Given the description of an element on the screen output the (x, y) to click on. 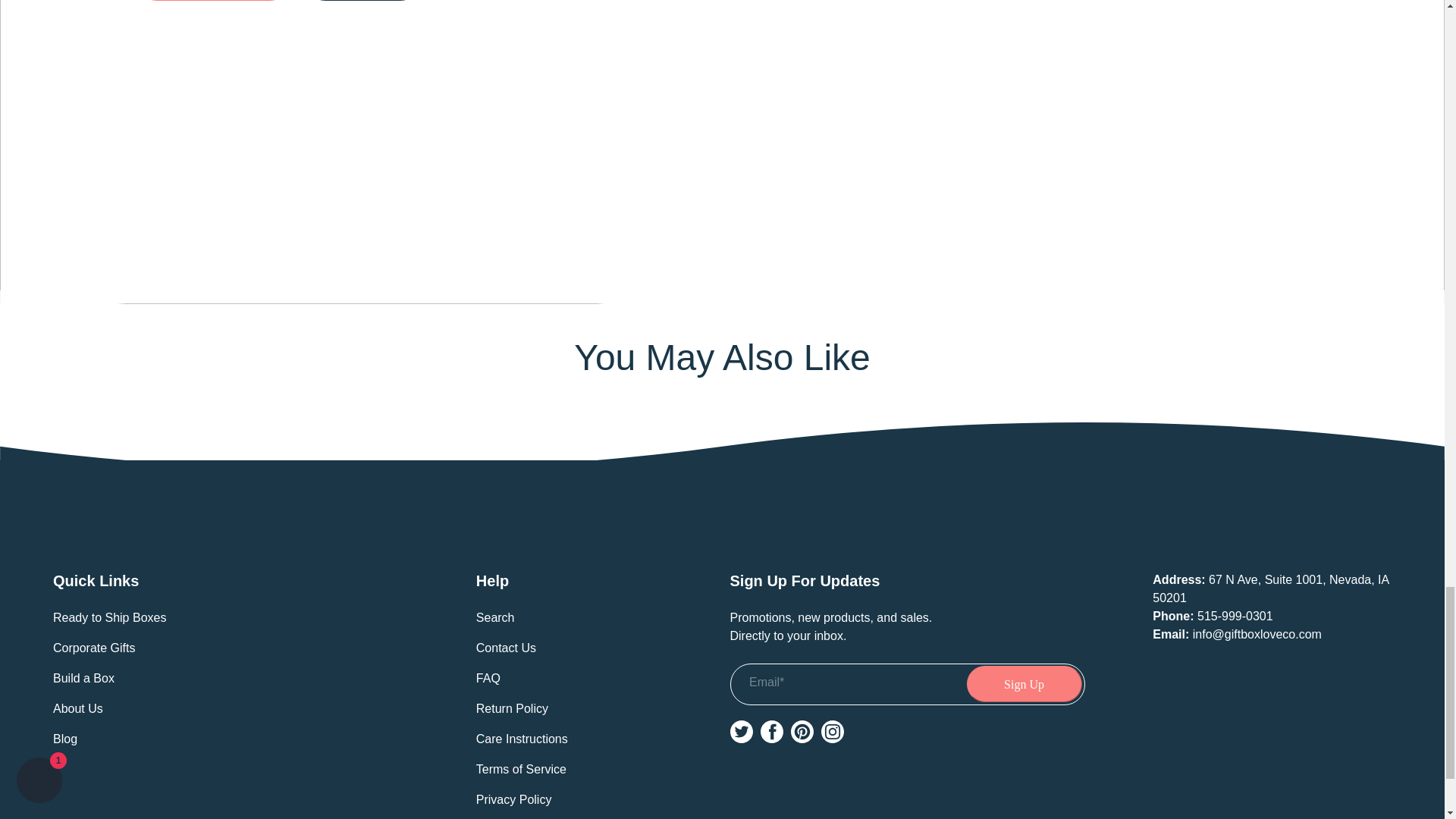
giftboxloveco on Twitter (740, 731)
giftboxloveco (722, 525)
giftboxloveco on Instagram (832, 731)
giftboxloveco on Pinterest (801, 731)
giftboxloveco on Facebook (771, 731)
